Given the description of an element on the screen output the (x, y) to click on. 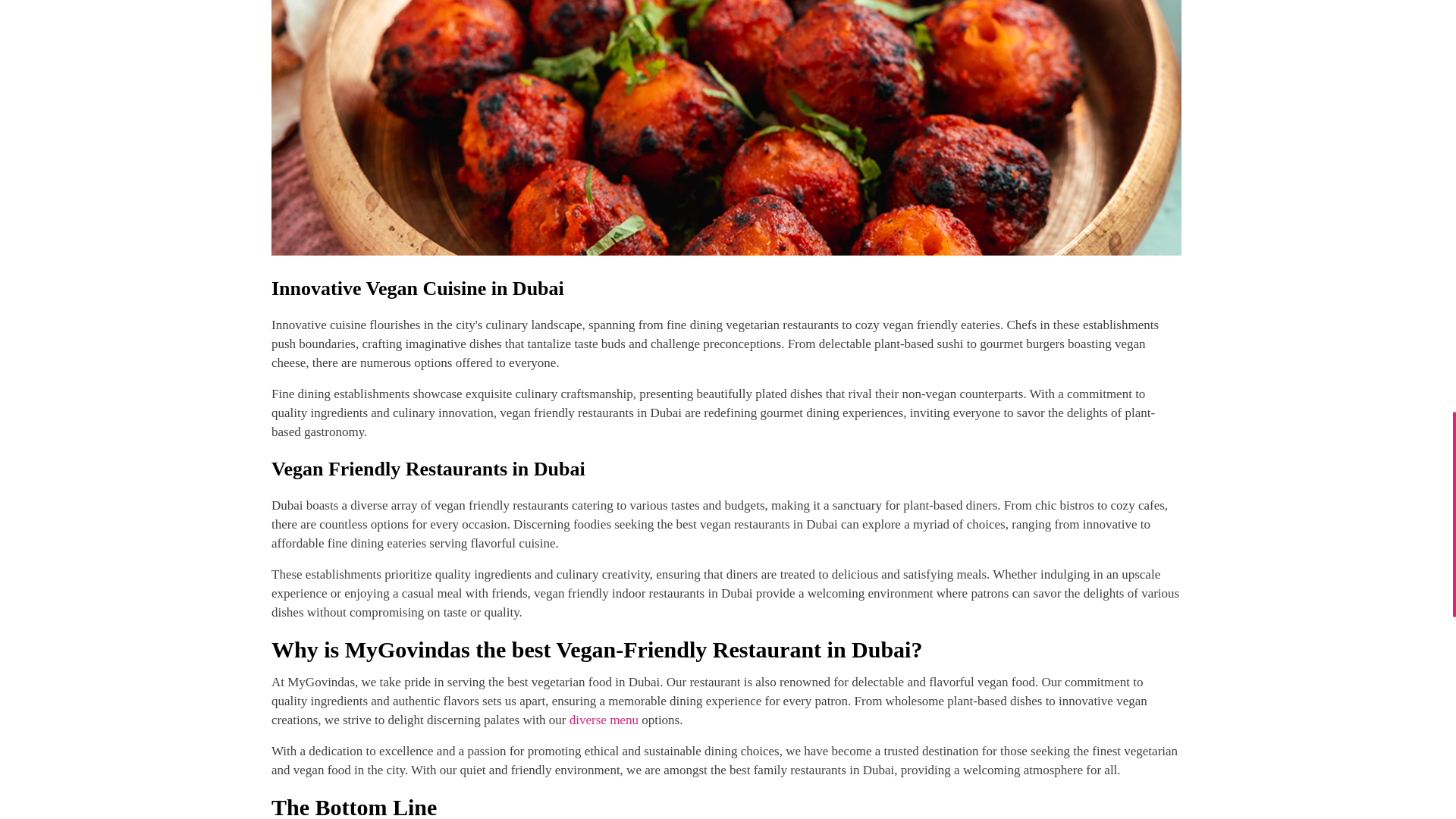
diverse menu (604, 719)
